Given the description of an element on the screen output the (x, y) to click on. 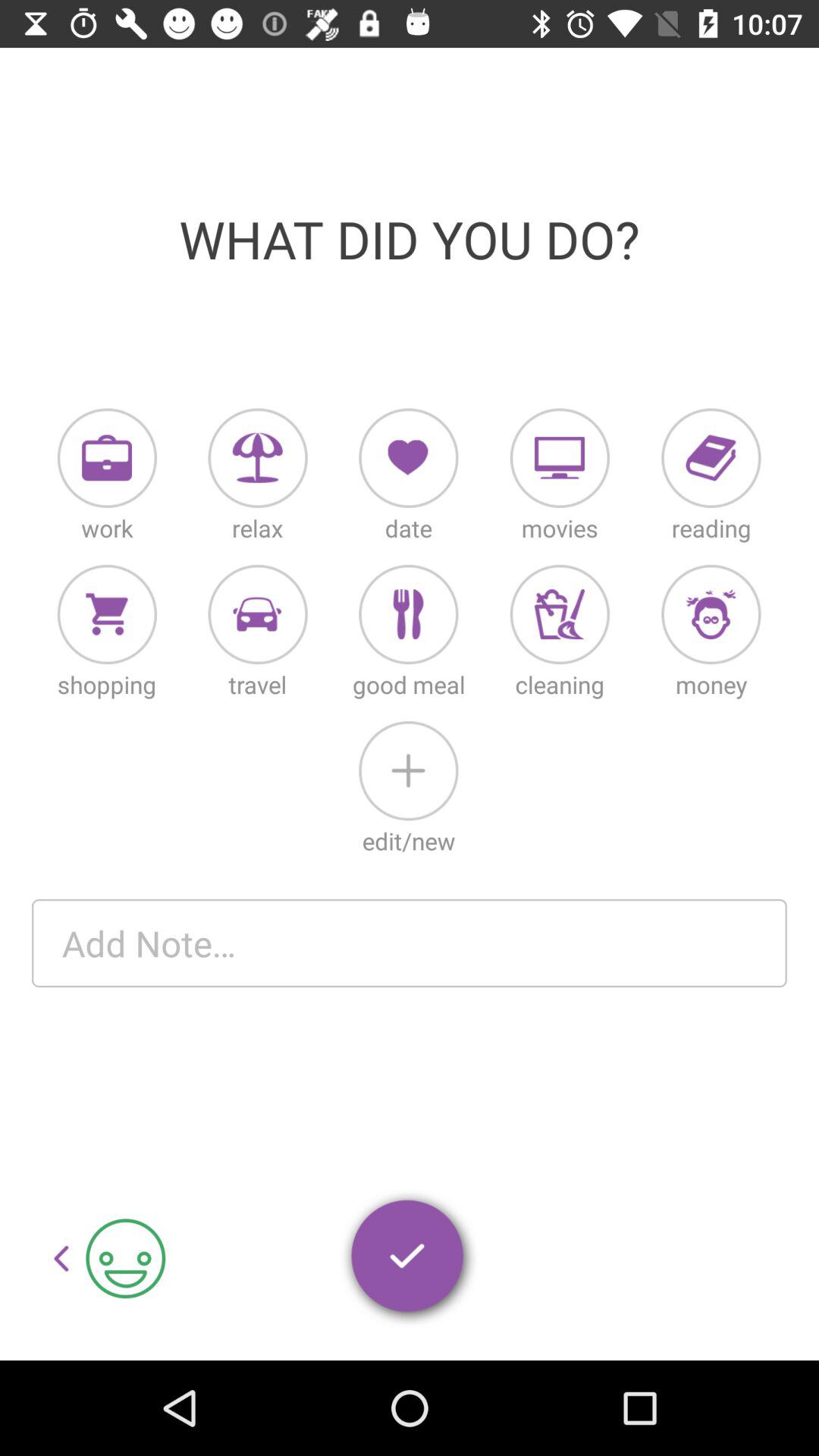
select good meal (408, 614)
